Given the description of an element on the screen output the (x, y) to click on. 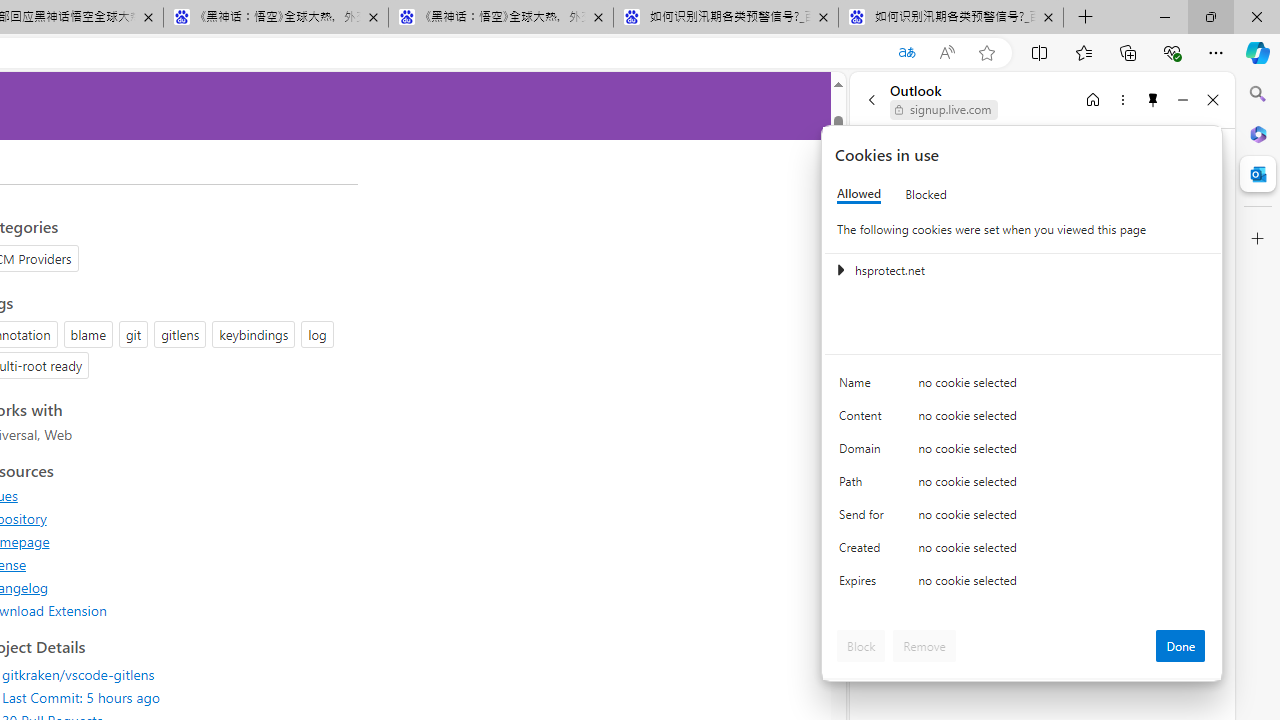
Class: c0153 c0157 (1023, 584)
no cookie selected (1062, 585)
Domain (864, 452)
Unpin side pane (1153, 99)
